Given the description of an element on the screen output the (x, y) to click on. 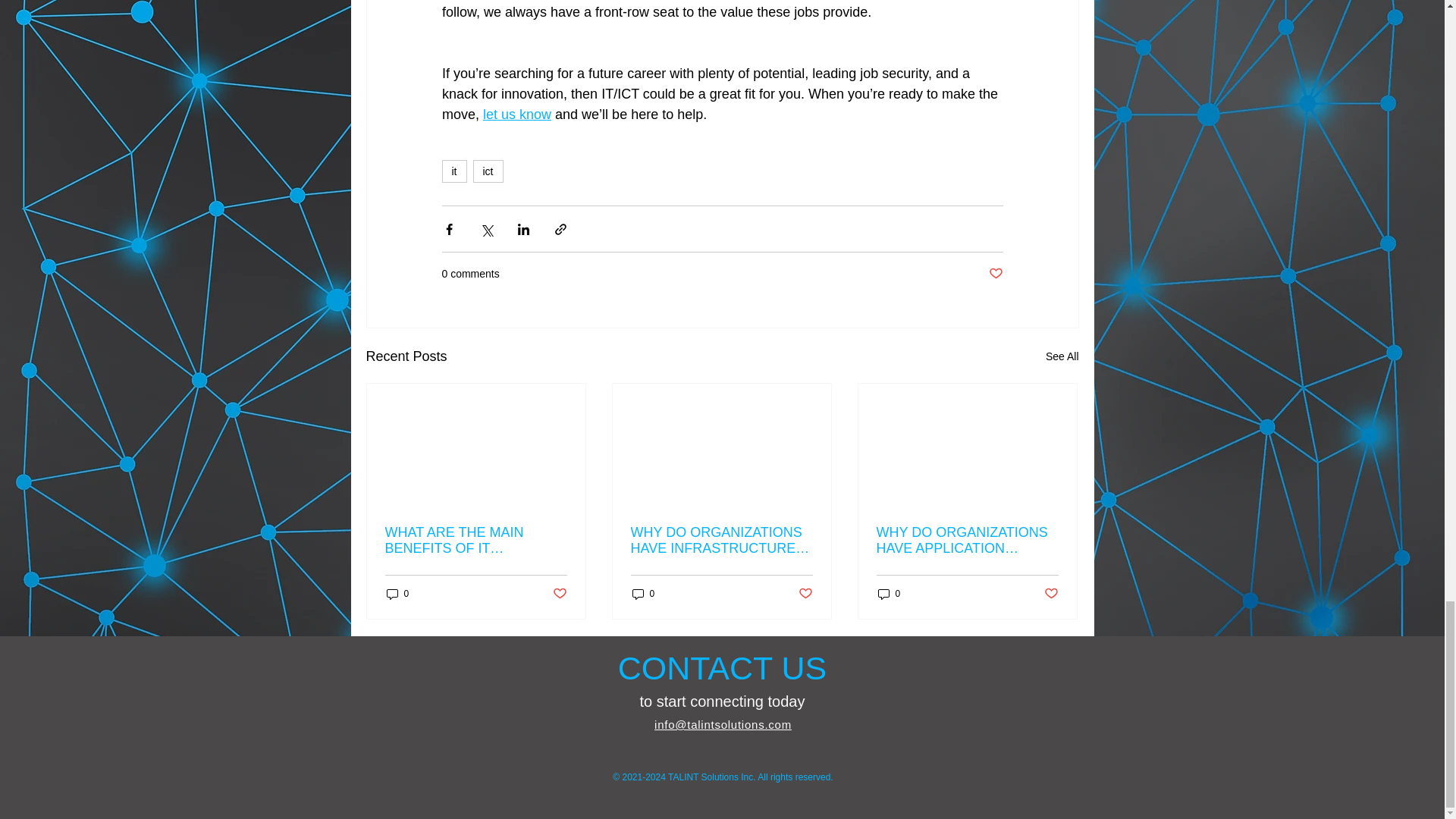
See All (1061, 356)
WHY DO ORGANIZATIONS HAVE APPLICATION ARCHITECTS? (967, 540)
ict (488, 170)
0 (643, 594)
let us know (517, 114)
WHAT ARE THE MAIN BENEFITS OF IT OUTSOURCING? (476, 540)
0 (397, 594)
Post not marked as liked (804, 593)
0 (889, 594)
Post not marked as liked (1050, 593)
